Given the description of an element on the screen output the (x, y) to click on. 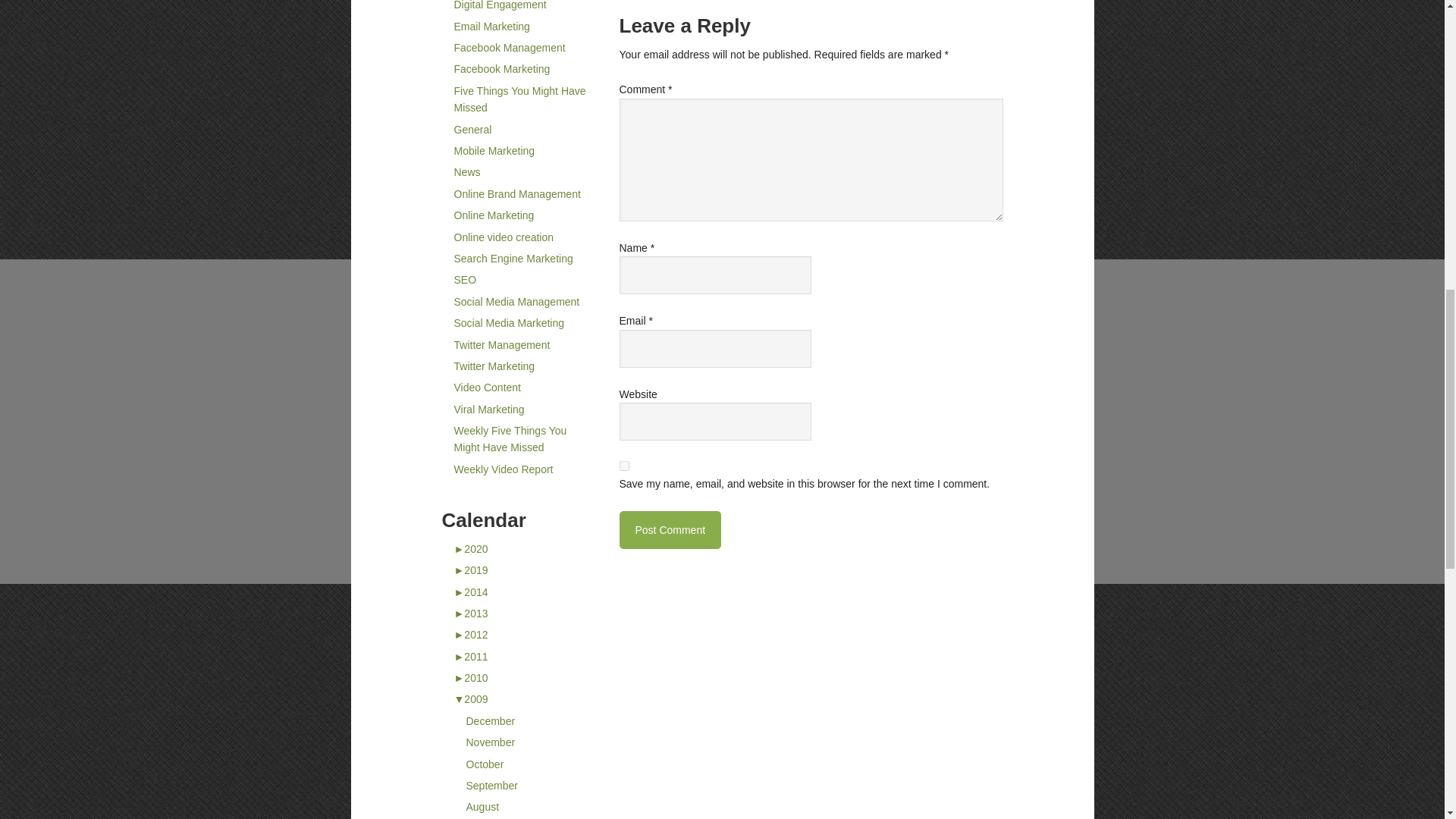
2019 (469, 570)
Post Comment (669, 529)
yes (623, 465)
2020 (469, 548)
2014 (469, 592)
Post Comment (669, 529)
